Given the description of an element on the screen output the (x, y) to click on. 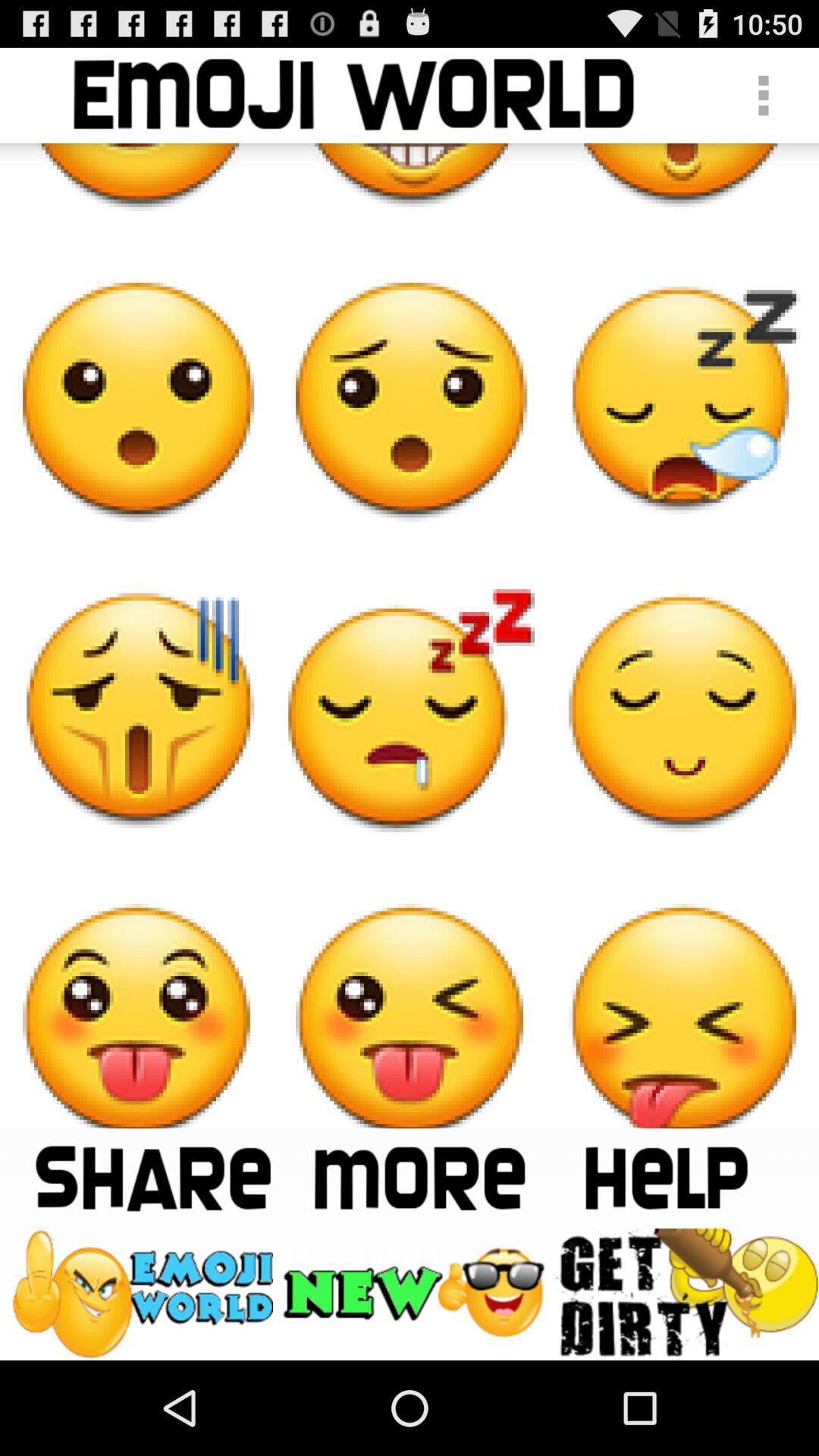
see more emoji (419, 1177)
